Given the description of an element on the screen output the (x, y) to click on. 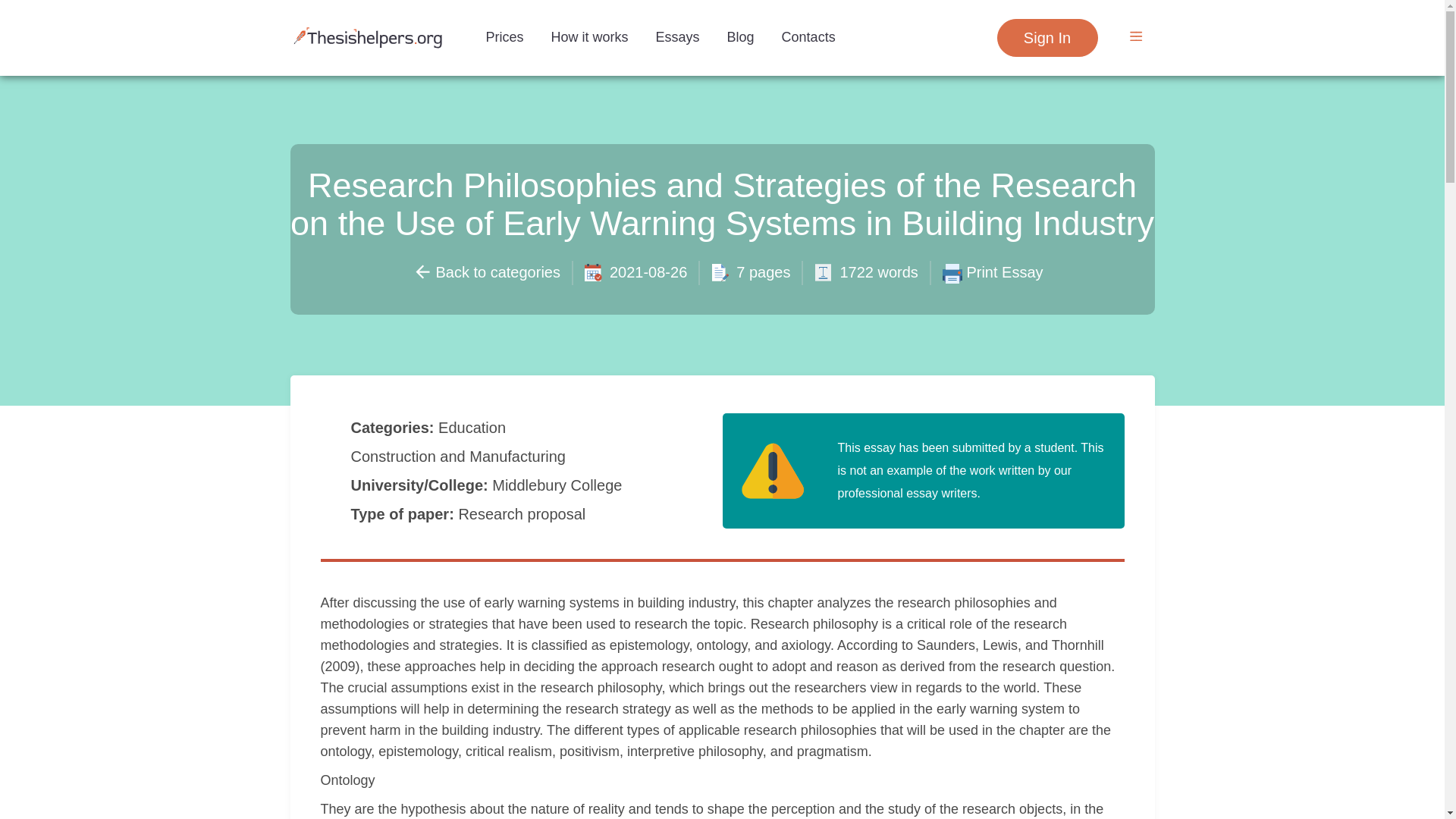
Back to categories (486, 272)
Prices (504, 37)
Education  (474, 427)
Essays (677, 37)
How it works (589, 37)
Blog (740, 37)
Construction and Manufacturing  (459, 456)
Contacts (808, 37)
